Given the description of an element on the screen output the (x, y) to click on. 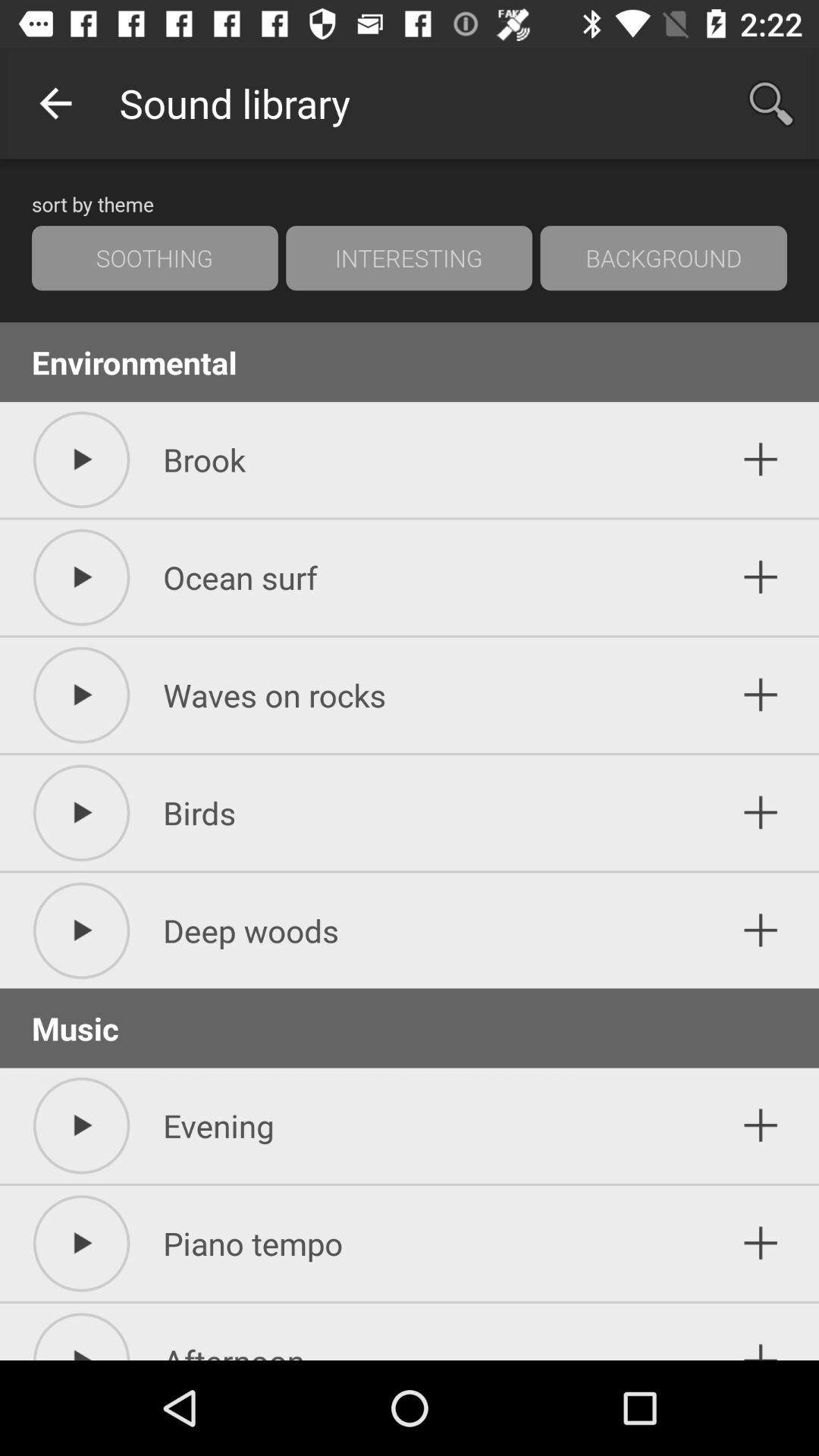
open the icon next to the sound library app (55, 103)
